Given the description of an element on the screen output the (x, y) to click on. 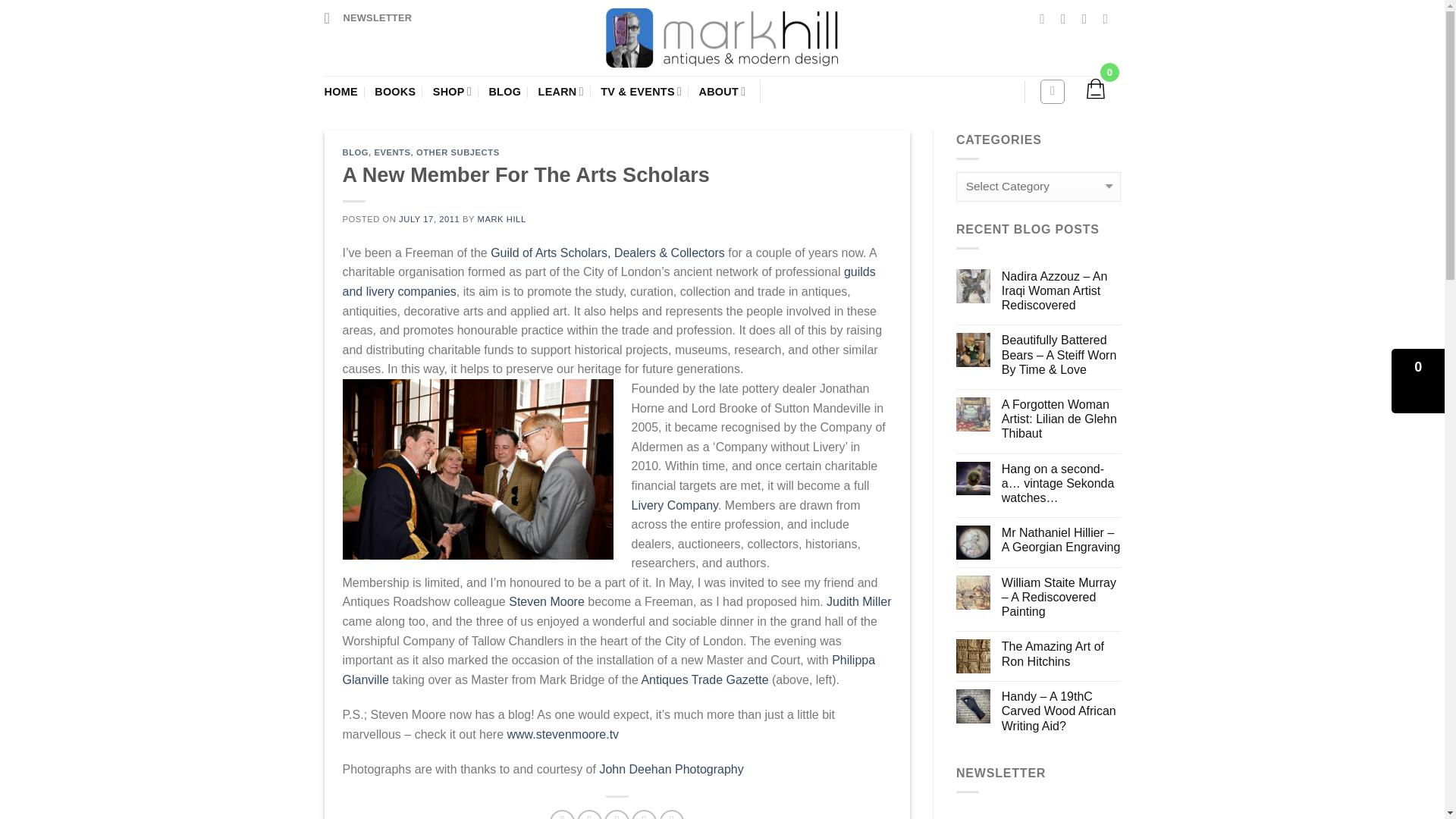
SHOP (451, 91)
A Forgotten Woman Artist: Lilian de Glehn Thibaut (1061, 419)
BLOG (504, 91)
The Amazing Art of Ron Hitchins (1061, 653)
GuildSpring2011d (477, 469)
LEARN (560, 91)
HOME (341, 91)
BOOKS (394, 91)
NEWSLETTER (368, 18)
